Given the description of an element on the screen output the (x, y) to click on. 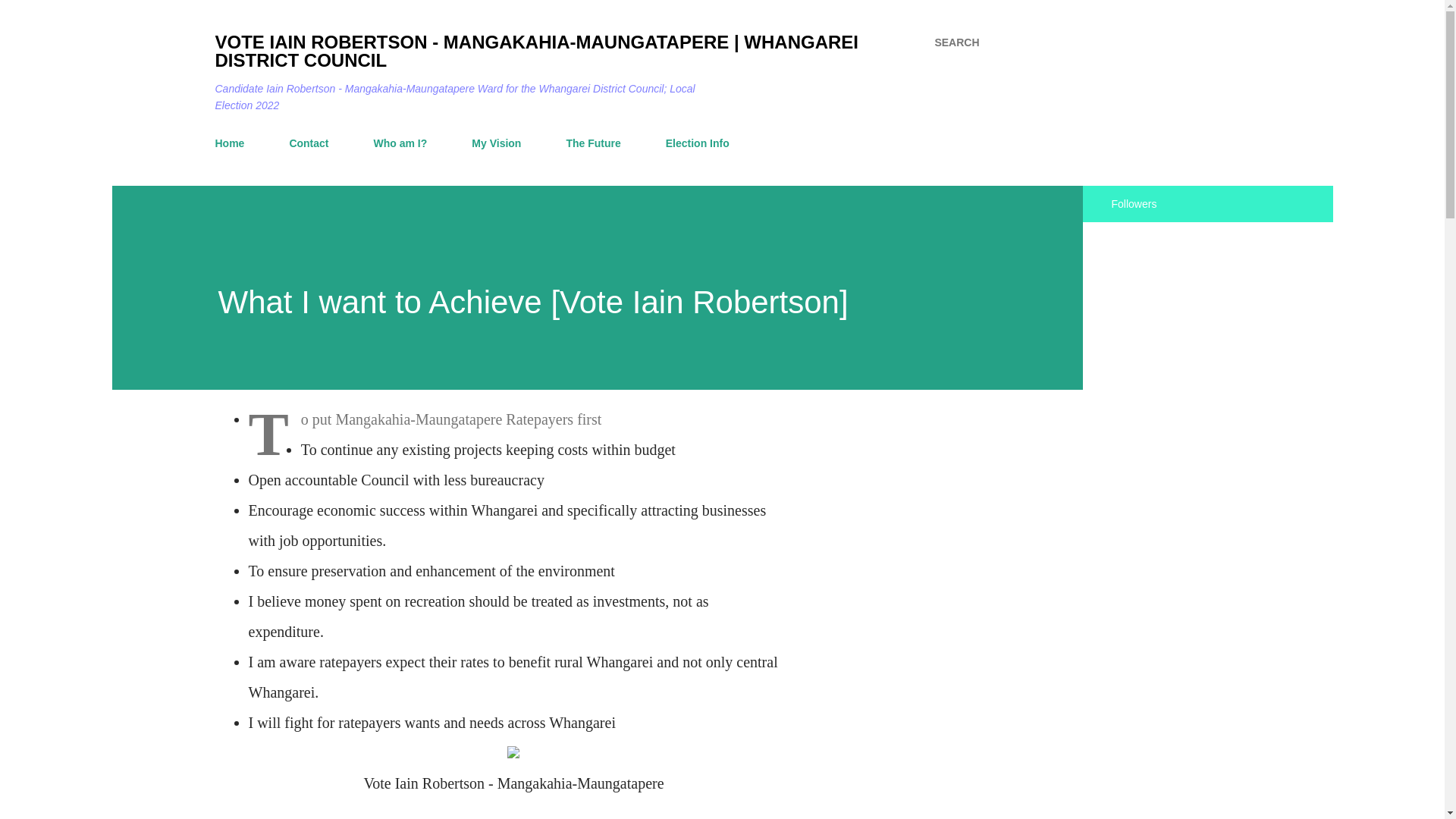
My Vision (496, 142)
SEARCH (956, 42)
Contact (308, 142)
Home (234, 142)
Who am I? (400, 142)
Election Info (697, 142)
The Future (592, 142)
